Given the description of an element on the screen output the (x, y) to click on. 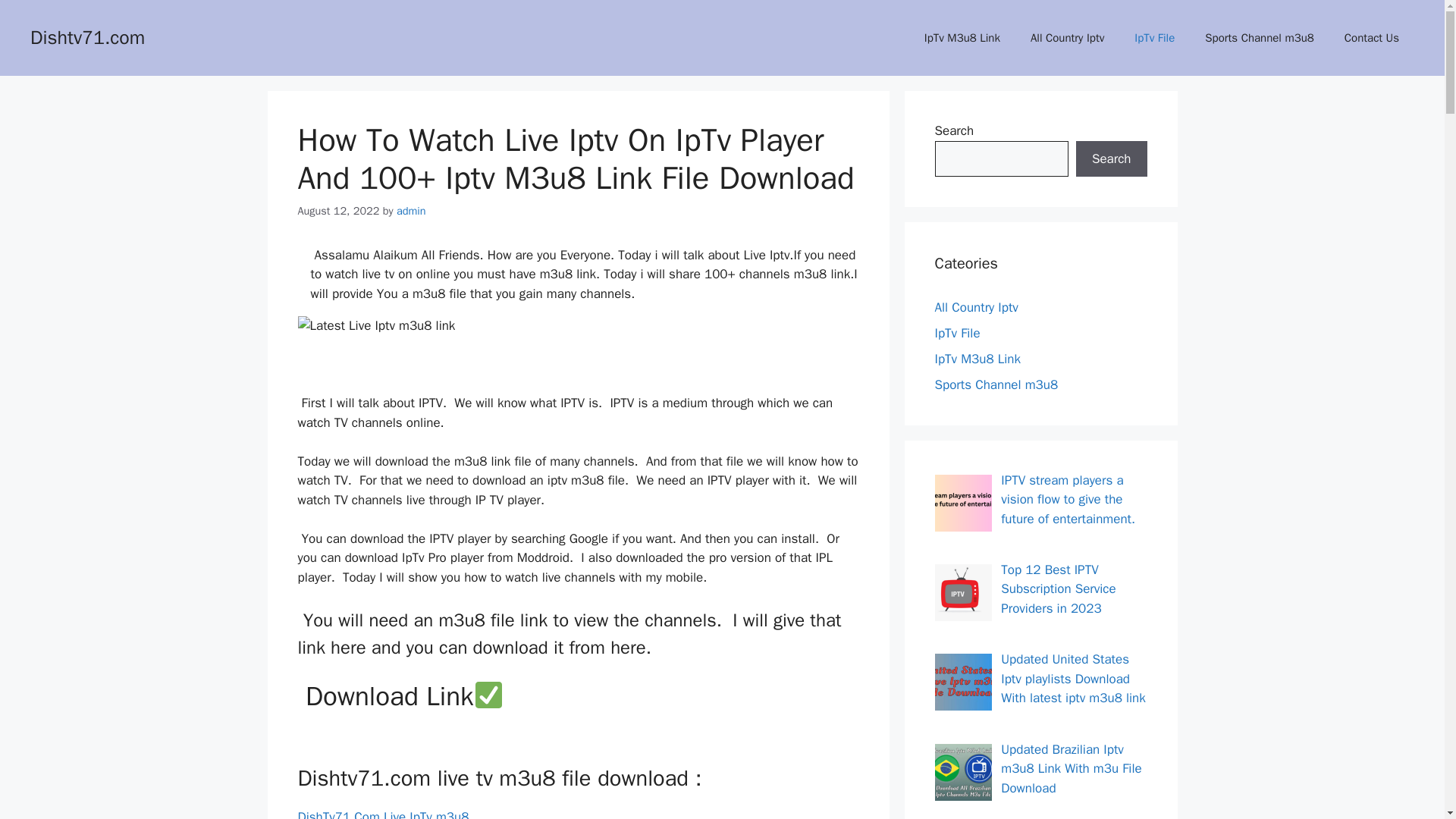
Sports Channel m3u8 (996, 384)
Top 12 Best IPTV Subscription Service Providers in 2023 (1058, 588)
All Country Iptv (975, 307)
Sports Channel m3u8 (1259, 37)
Contact Us (1371, 37)
IpTv File (1154, 37)
Latest Live Iptv m3u8 link (375, 325)
View all posts by admin (411, 210)
All Country Iptv (1066, 37)
